Given the description of an element on the screen output the (x, y) to click on. 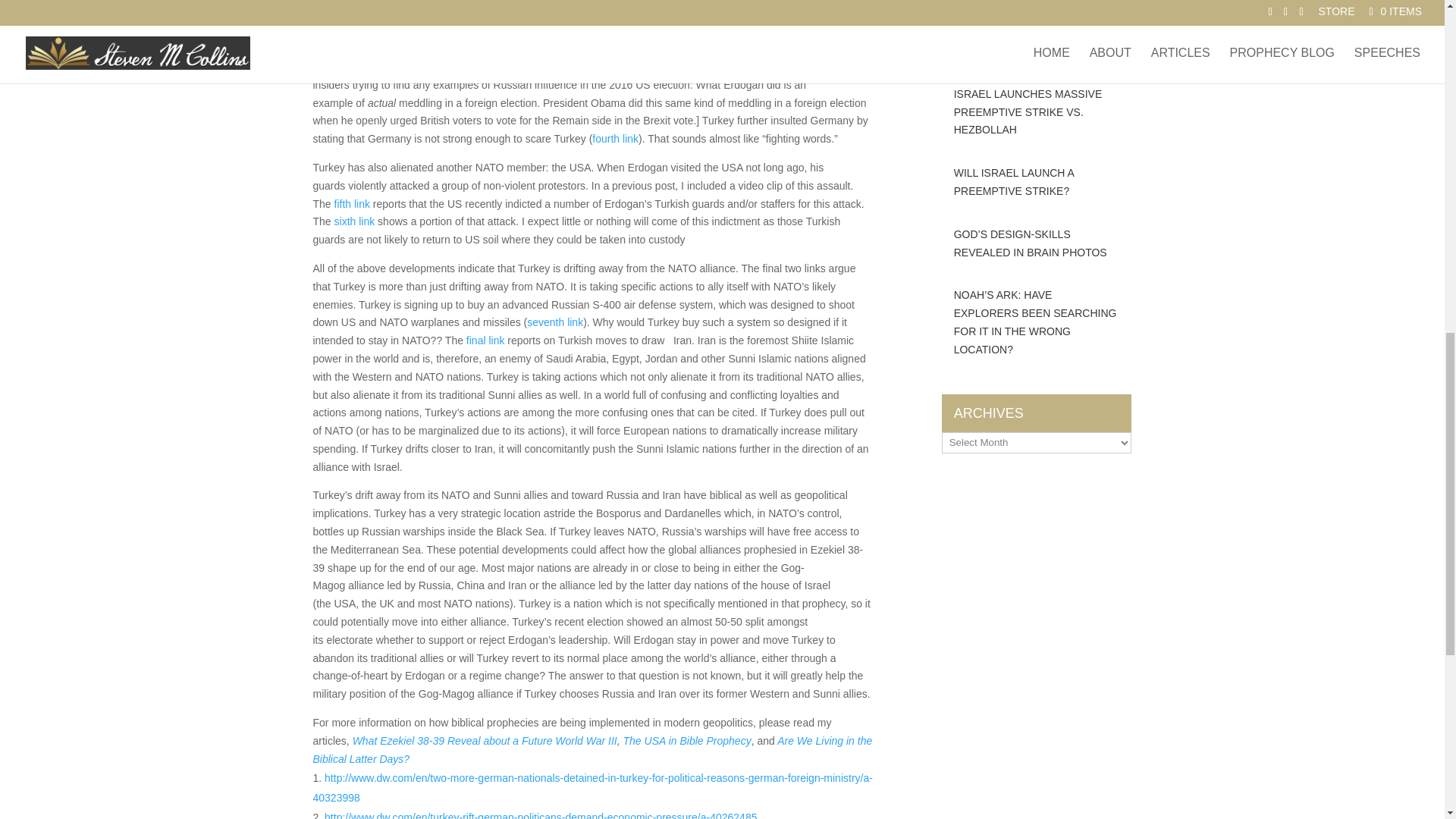
The USA in Bible Prophecy (687, 740)
Are We Living in the Biblical Latter Days? (592, 749)
fifth link (351, 203)
fourth link (615, 138)
seventh link (555, 322)
final link (485, 340)
What Ezekiel 38-39 Reveal about a Future World War III (484, 740)
sixth link (354, 221)
third link (708, 30)
